Given the description of an element on the screen output the (x, y) to click on. 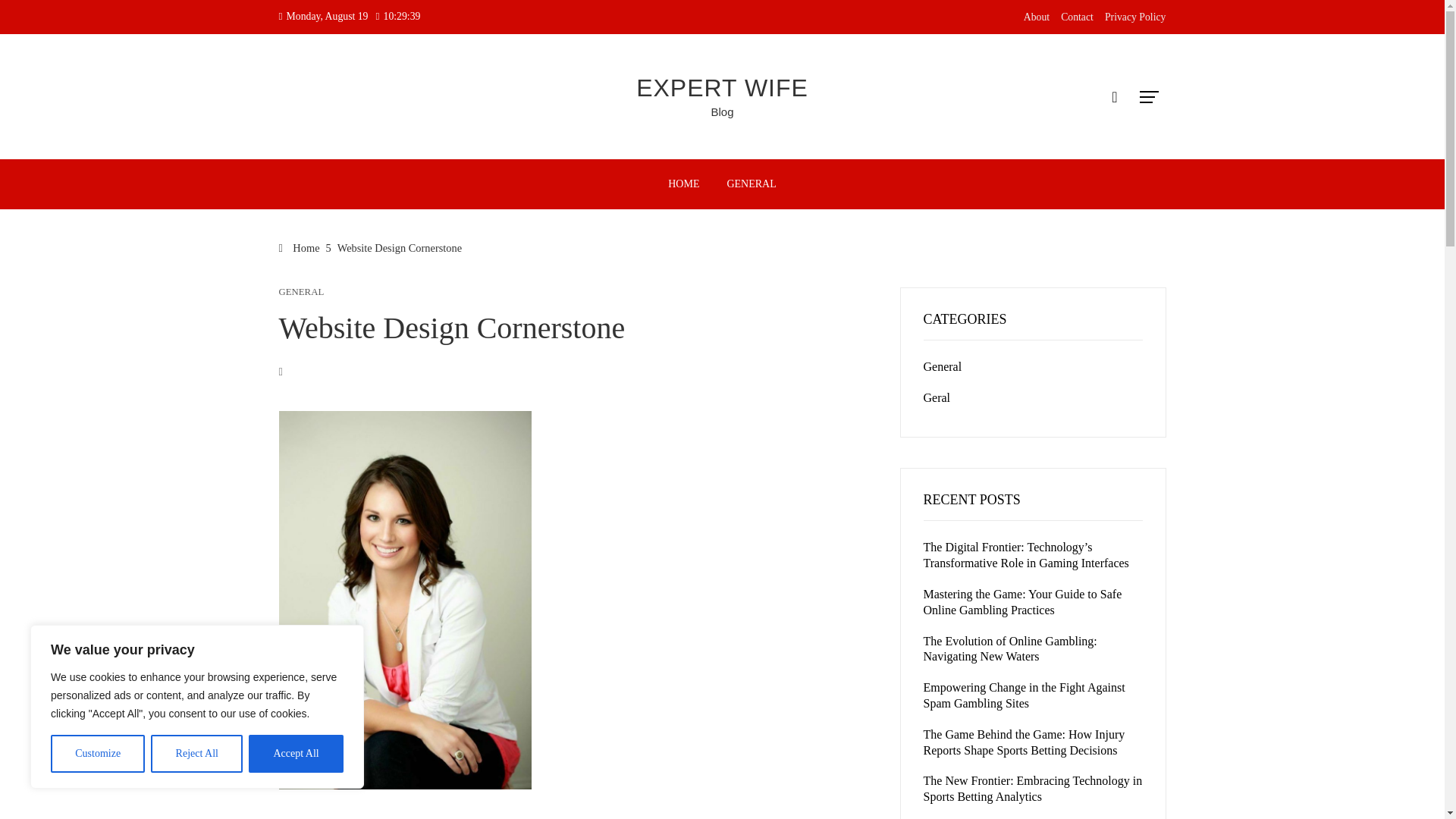
Customize (97, 753)
Reject All (197, 753)
GENERAL (750, 183)
Blog (721, 111)
General (942, 366)
Privacy Policy (1135, 17)
Accept All (295, 753)
HOME (683, 183)
Contact (1077, 17)
Home (299, 247)
